Given the description of an element on the screen output the (x, y) to click on. 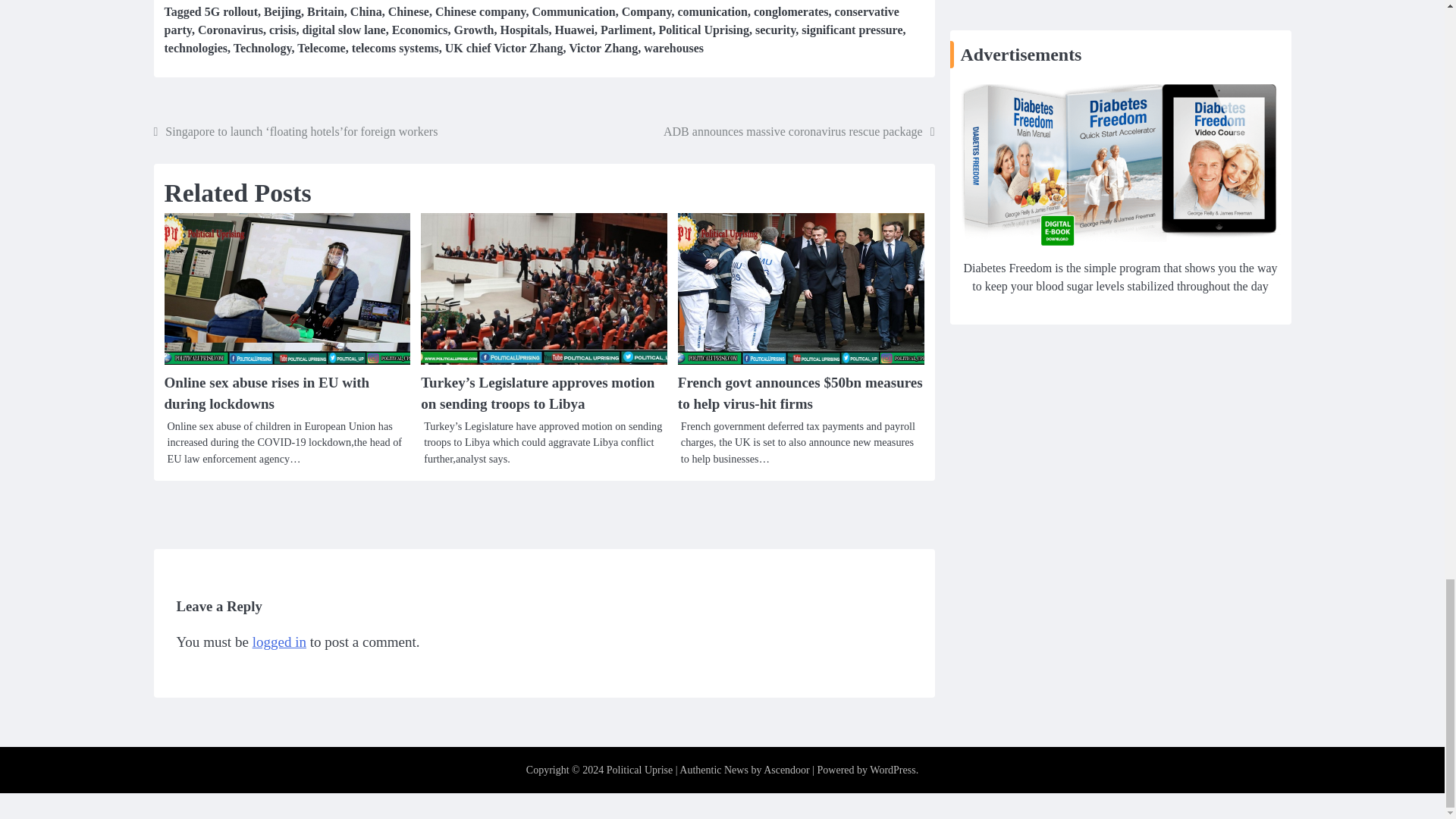
comunication (713, 11)
Communication (572, 11)
conglomerates (791, 11)
China (365, 11)
Beijing (282, 11)
Chinese company (480, 11)
Chinese (408, 11)
Britain (325, 11)
Company (646, 11)
5G rollout (231, 11)
